Given the description of an element on the screen output the (x, y) to click on. 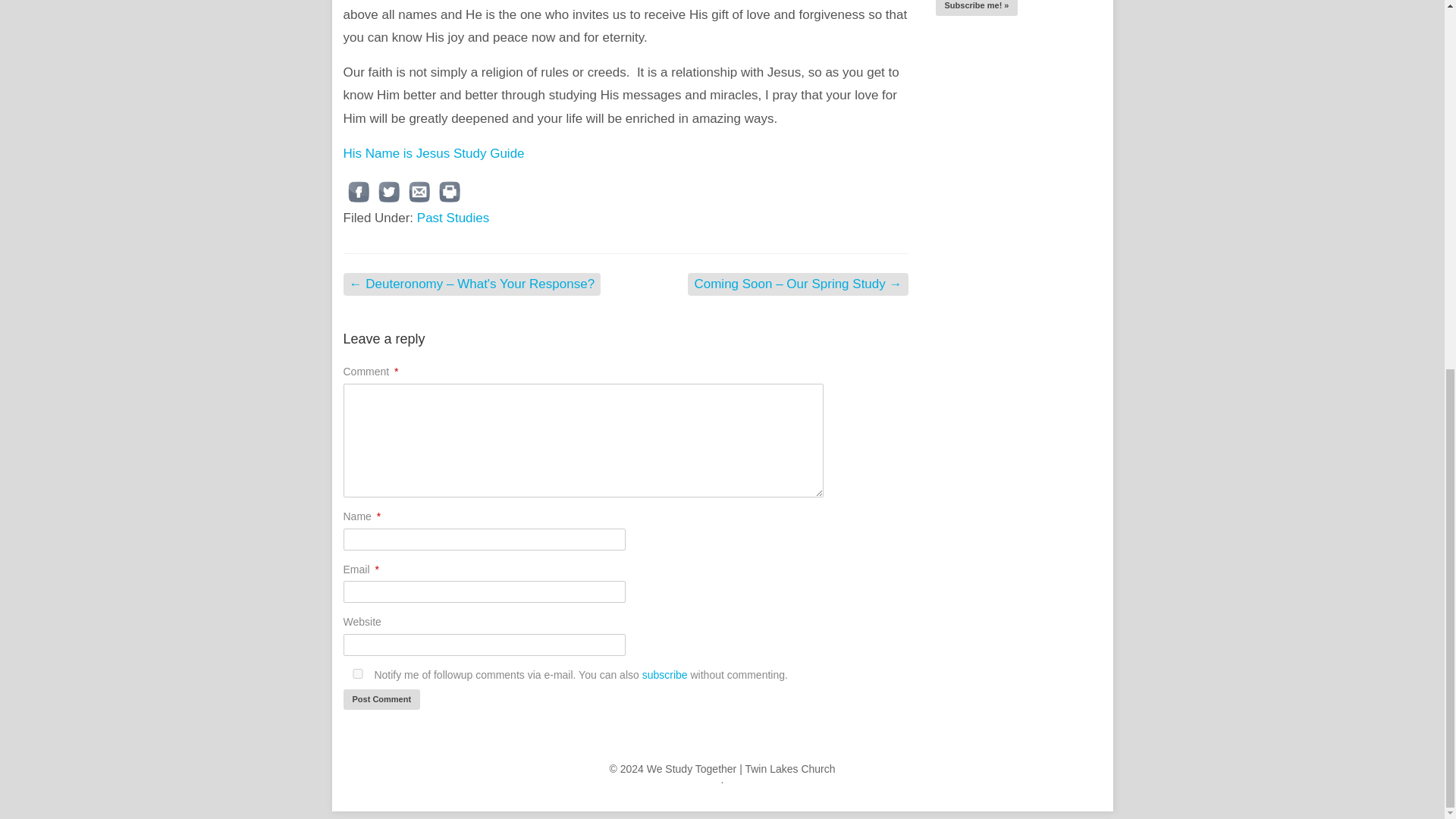
print (448, 191)
twitter (387, 191)
Post Comment (381, 699)
Post Comment (381, 699)
email (418, 191)
His Name is Jesus Study Guide (433, 153)
subscribe (664, 674)
Past Studies (452, 217)
yes (357, 673)
Twin Lakes Church (789, 768)
